Given the description of an element on the screen output the (x, y) to click on. 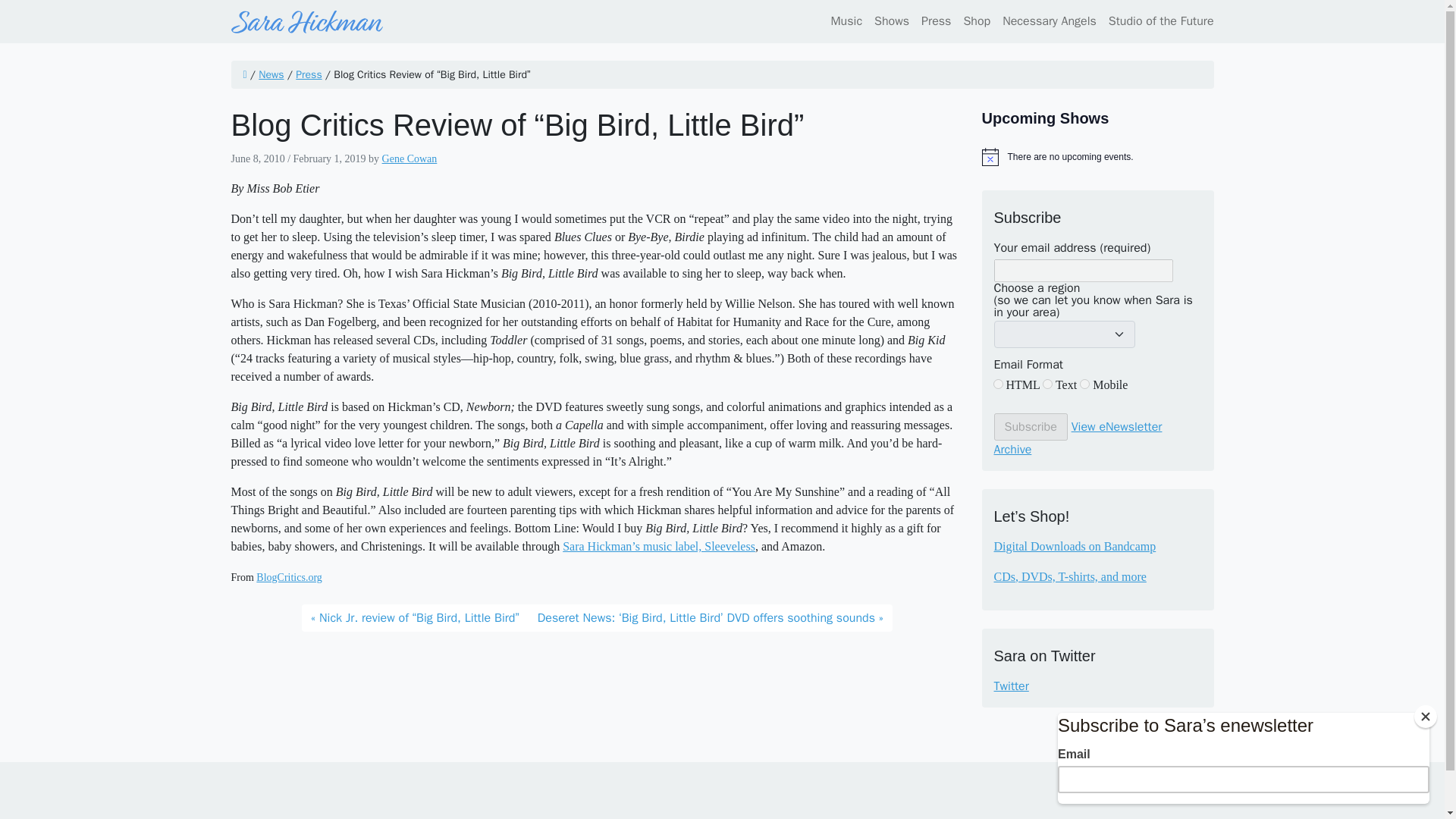
CDs, DVDs, T-shirts, and more (1068, 576)
Shows (891, 20)
mobile (1084, 384)
Subscribe (1029, 426)
Press (308, 74)
Gene Cowan (409, 158)
Subscribe (1029, 426)
Posts by Gene Cowan (409, 158)
Studio of the Future (1158, 20)
Digital Downloads on Bandcamp (1074, 545)
News (271, 74)
Shop (975, 20)
BlogCritics.org (288, 577)
html (997, 384)
BlogCritics.org (288, 577)
